Given the description of an element on the screen output the (x, y) to click on. 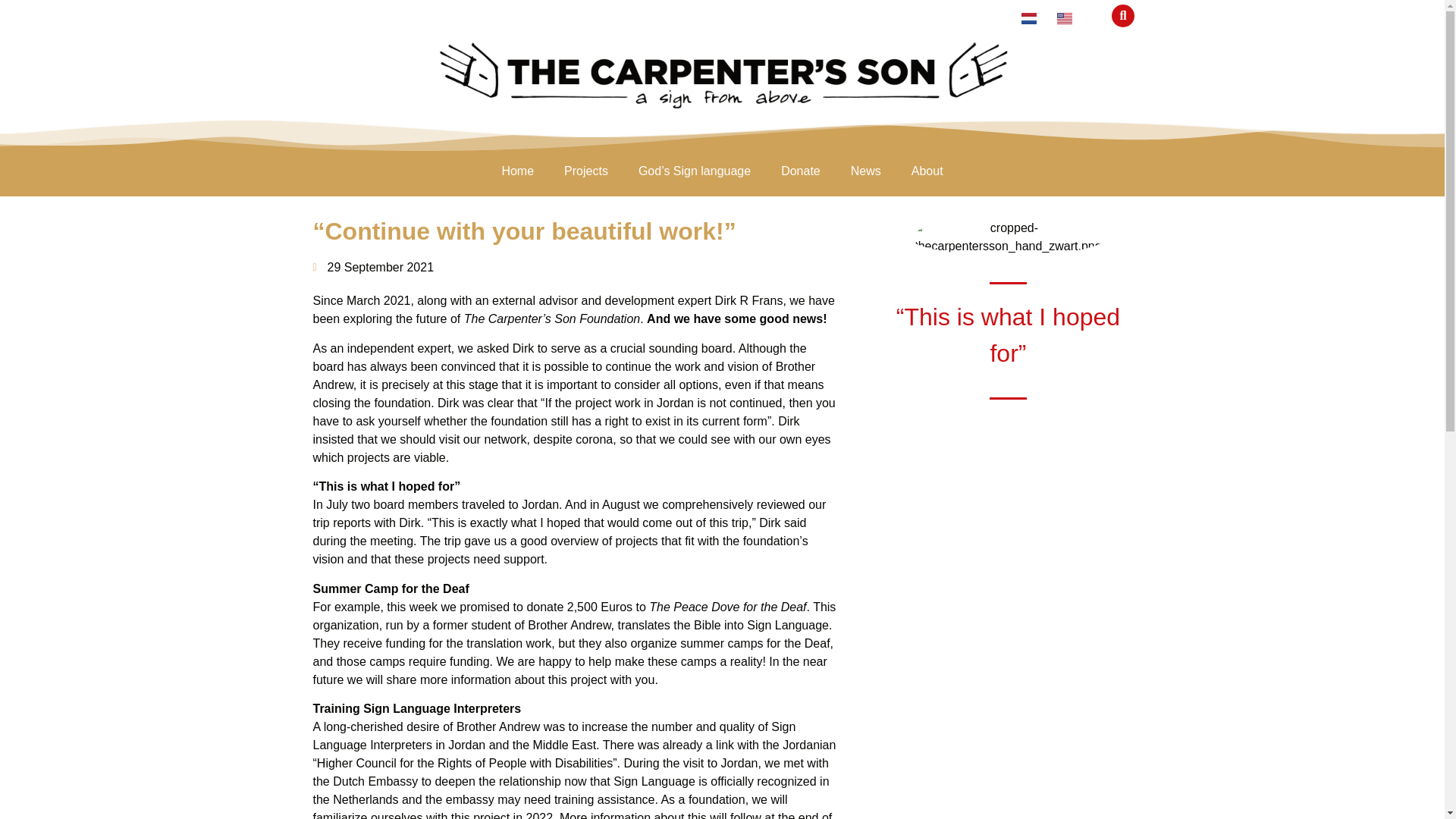
Home (517, 171)
Projects (585, 171)
About (927, 171)
News (865, 171)
Donate (800, 171)
